Given the description of an element on the screen output the (x, y) to click on. 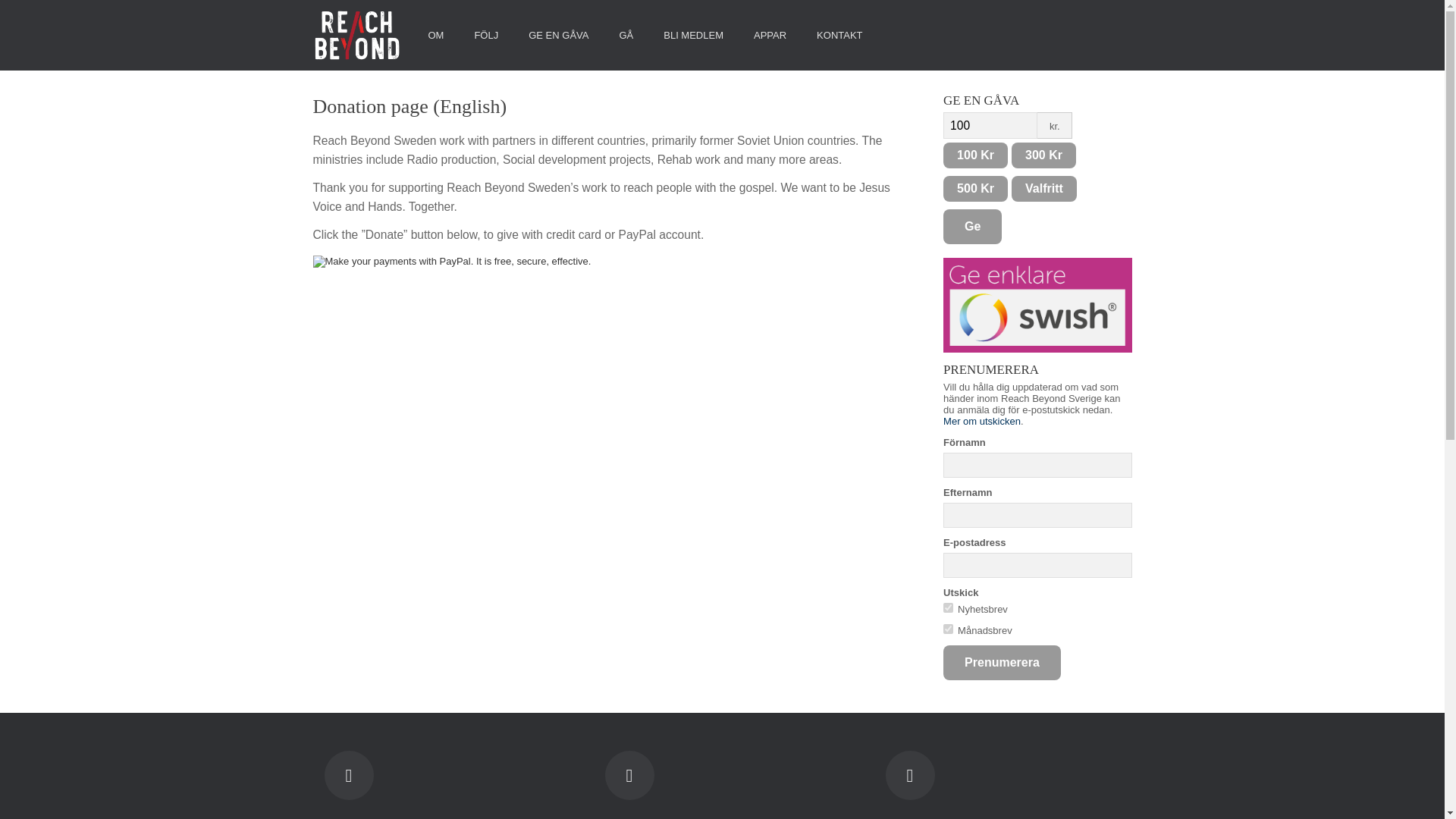
300 Kr (1043, 155)
Nyhetsbrev (948, 607)
APPAR (770, 35)
100 Kr (975, 155)
Reach Beyond Sverige (357, 35)
100 (989, 125)
swish banner (1037, 304)
500 Kr (975, 188)
Prenumerera (1002, 662)
KONTAKT (839, 35)
BLI MEDLEM (692, 35)
